Given the description of an element on the screen output the (x, y) to click on. 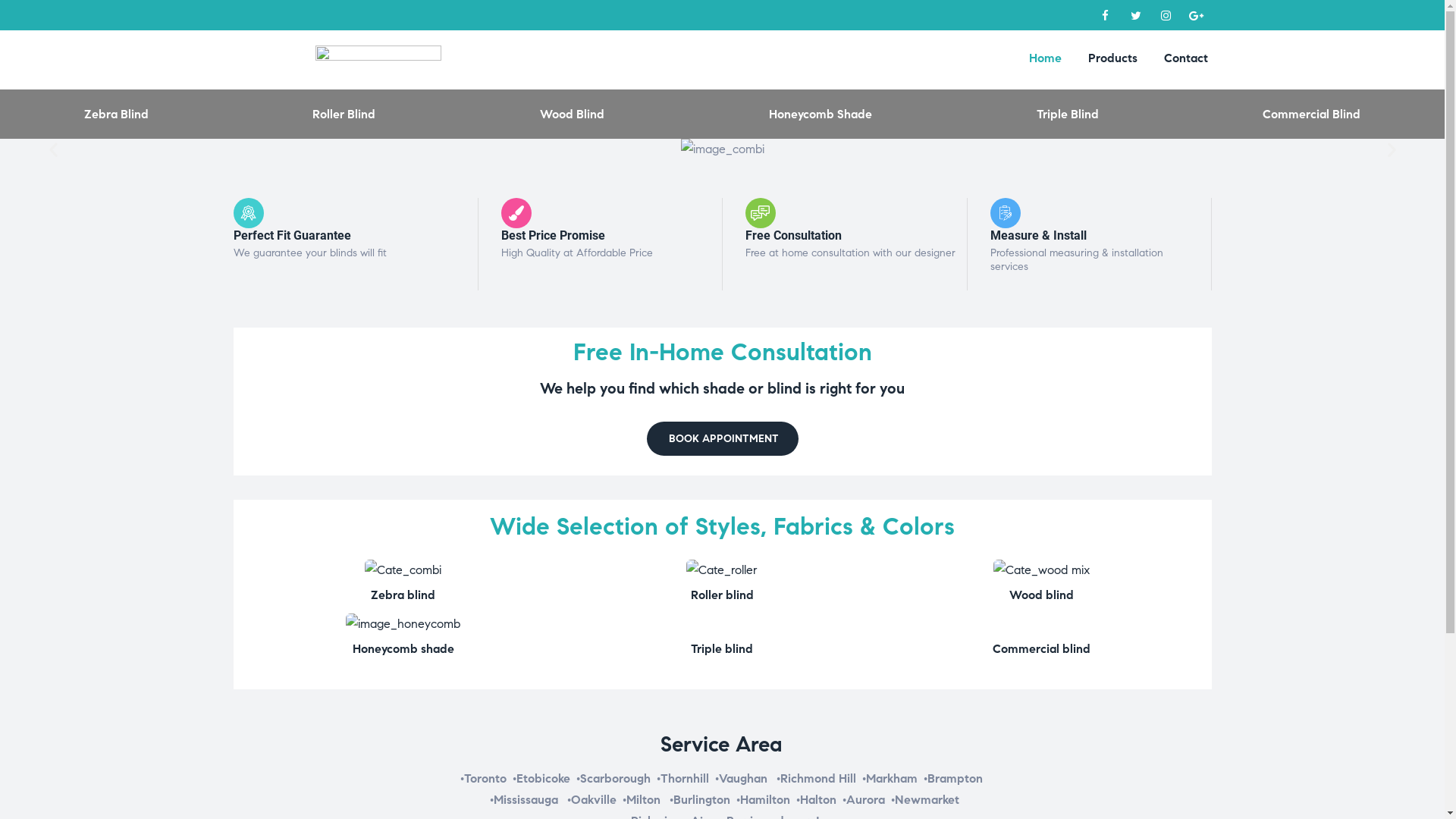
Measure & Install Element type: text (1038, 235)
Honeycomb shade Element type: text (403, 648)
Wood Blind Element type: text (572, 114)
Cate_wood mix Element type: hover (1041, 569)
image_honeycomb Element type: hover (402, 623)
Zebra Blind Element type: text (115, 114)
Best Price Promise Element type: text (553, 235)
Wood Blind Element type: hover (1041, 569)
Honeycomb Shade Element type: hover (402, 623)
Commercial Blind Element type: text (1311, 114)
Commercial blind Element type: text (1041, 648)
Home Element type: text (1045, 57)
BOOK APPOINTMENT Element type: text (721, 438)
Zebra Blind Element type: hover (402, 569)
Roller Blind Element type: hover (721, 569)
Cate_combi Element type: hover (402, 569)
Triple Blind Element type: text (1066, 114)
Free Consultation Element type: text (792, 235)
Wood blind Element type: text (1041, 594)
Zebra blind Element type: text (402, 594)
Triple blind Element type: text (721, 648)
Honeycomb Shade Element type: text (820, 114)
Roller Blind Element type: text (344, 114)
Products Element type: text (1112, 57)
Cate_roller Element type: hover (721, 569)
Roller blind Element type: text (721, 594)
Contact Element type: text (1186, 57)
Perfect Fit Guarantee Element type: text (292, 235)
